Given the description of an element on the screen output the (x, y) to click on. 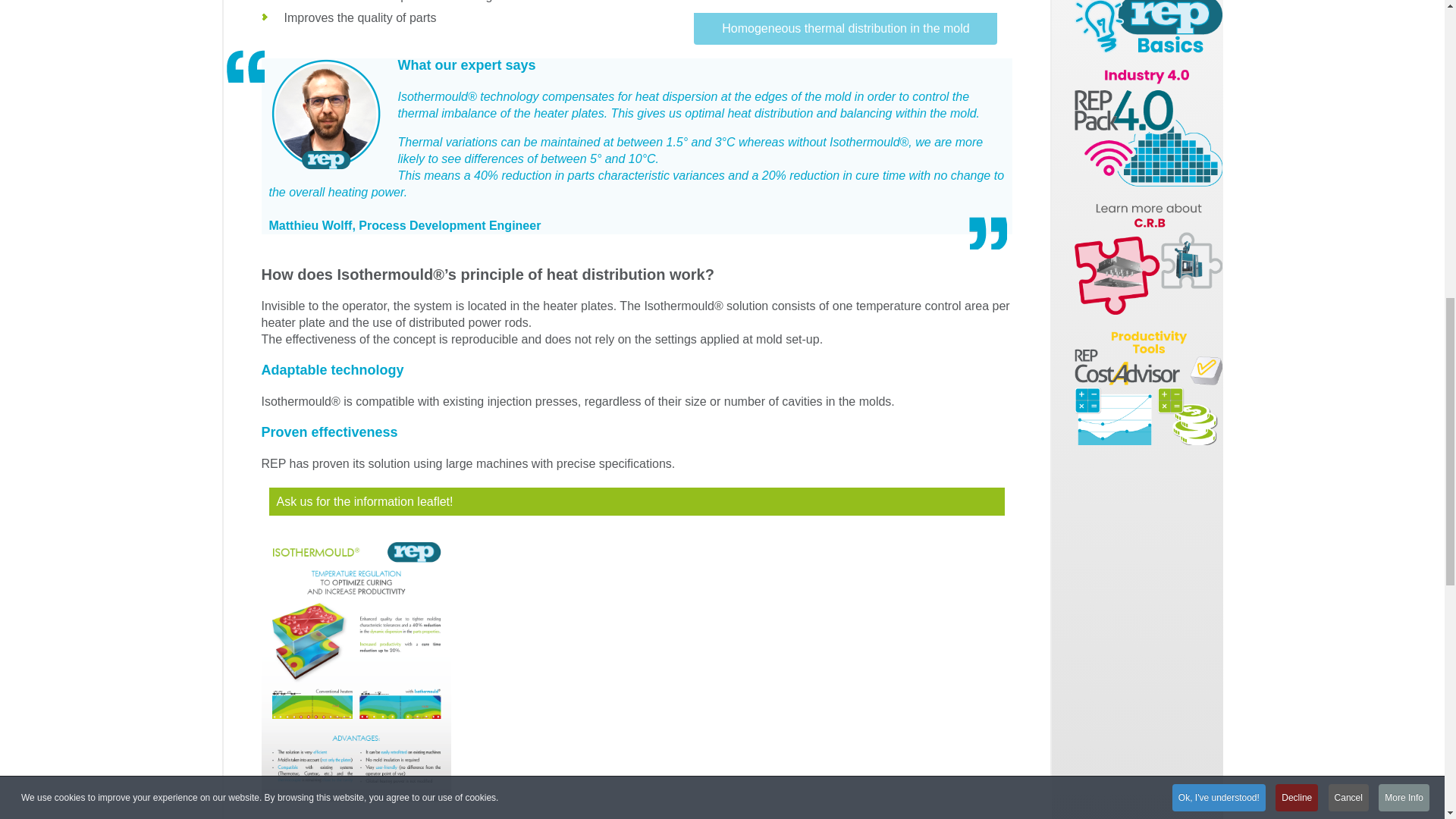
CRB (1148, 257)
Matthieu Wolff, Process Development Engineer (324, 114)
Options (1148, 26)
Click to download! (1148, 387)
